Given the description of an element on the screen output the (x, y) to click on. 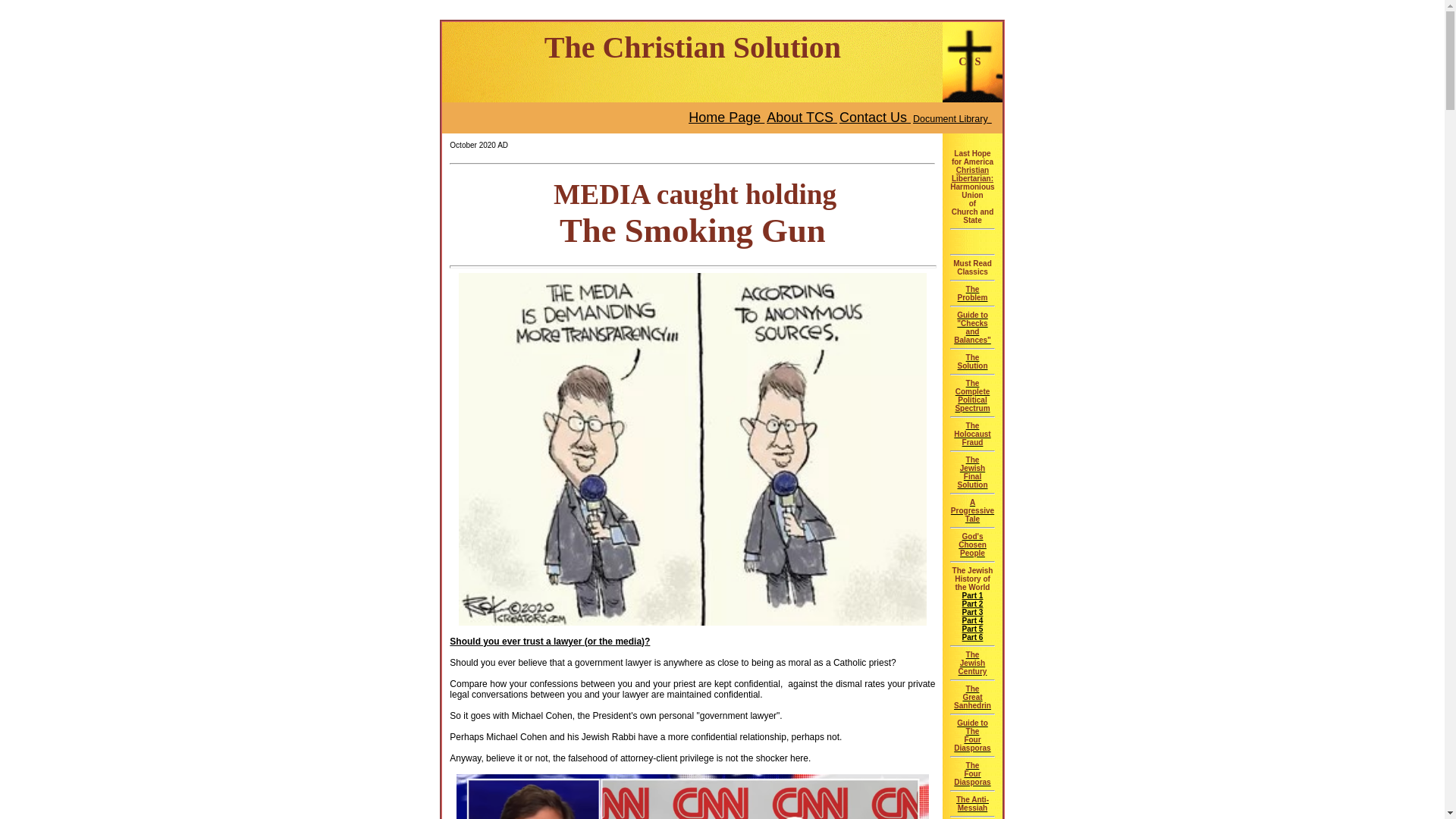
Part 4 (972, 327)
Document Library (973, 620)
The Anti-Messiah (972, 361)
Home Page (971, 773)
Part 1 (951, 117)
